Given the description of an element on the screen output the (x, y) to click on. 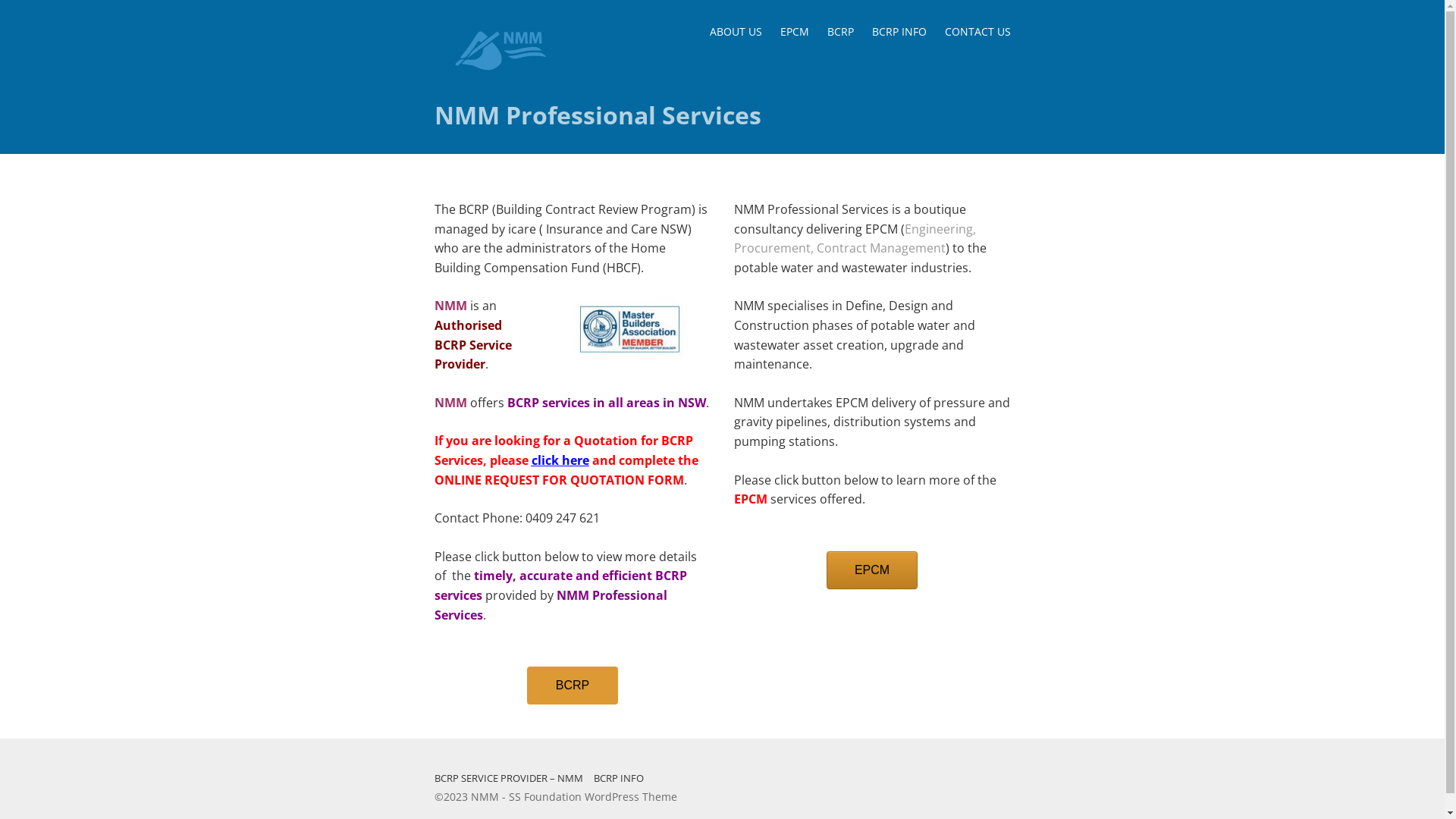
NMM Element type: text (484, 796)
BCRP INFO Element type: text (899, 31)
Authorised BCRP Service Provider Element type: text (472, 344)
BCRP INFO Element type: text (618, 777)
EPCM Element type: text (793, 31)
click here Element type: text (559, 459)
EPCM Element type: text (871, 570)
BCRP Element type: text (839, 31)
CONTACT US Element type: text (977, 31)
ABOUT US Element type: text (735, 31)
SS Foundation WordPress Theme Element type: text (592, 796)
BCRP Element type: text (572, 685)
